Given the description of an element on the screen output the (x, y) to click on. 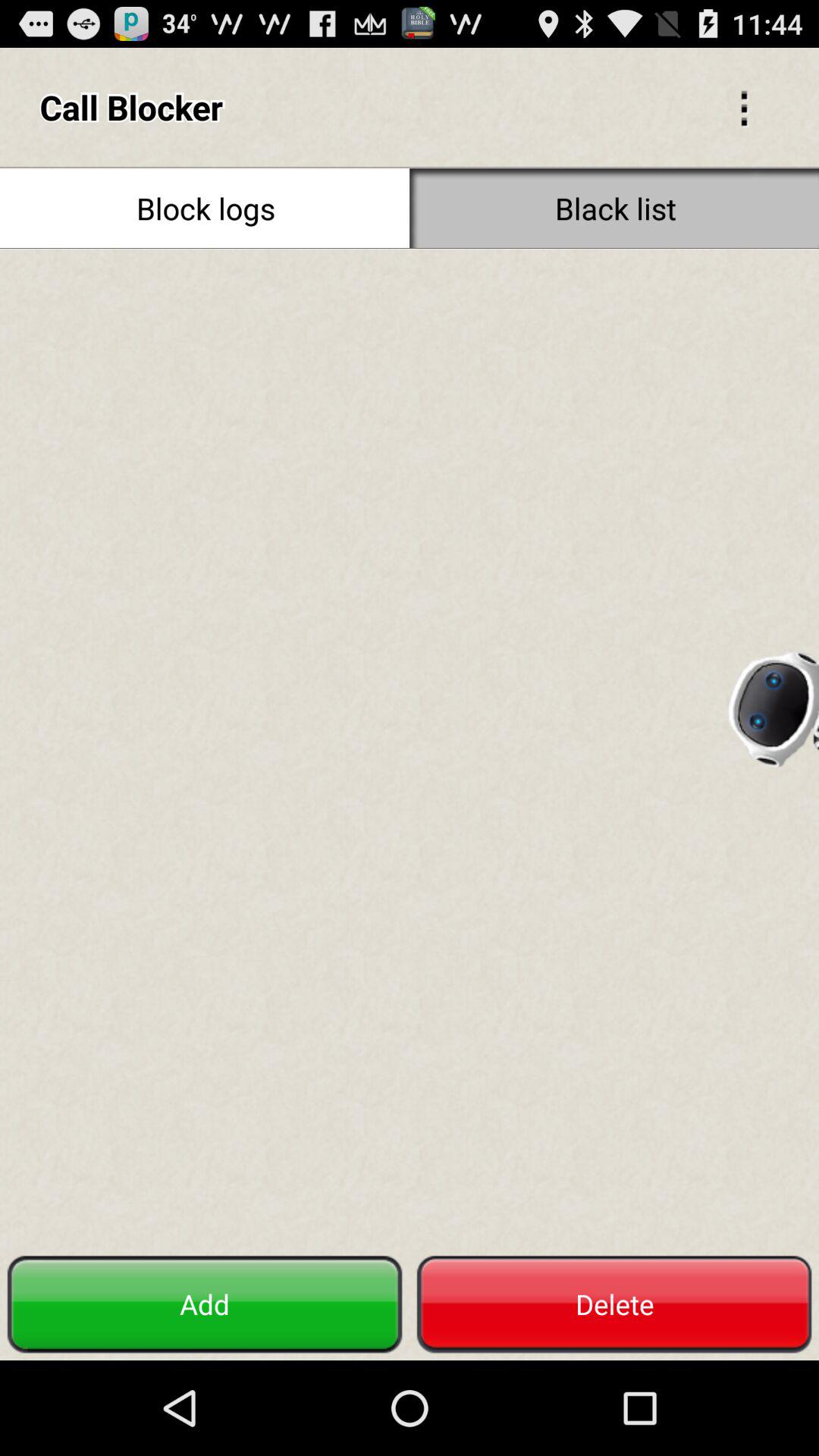
tap the item above delete item (772, 703)
